Given the description of an element on the screen output the (x, y) to click on. 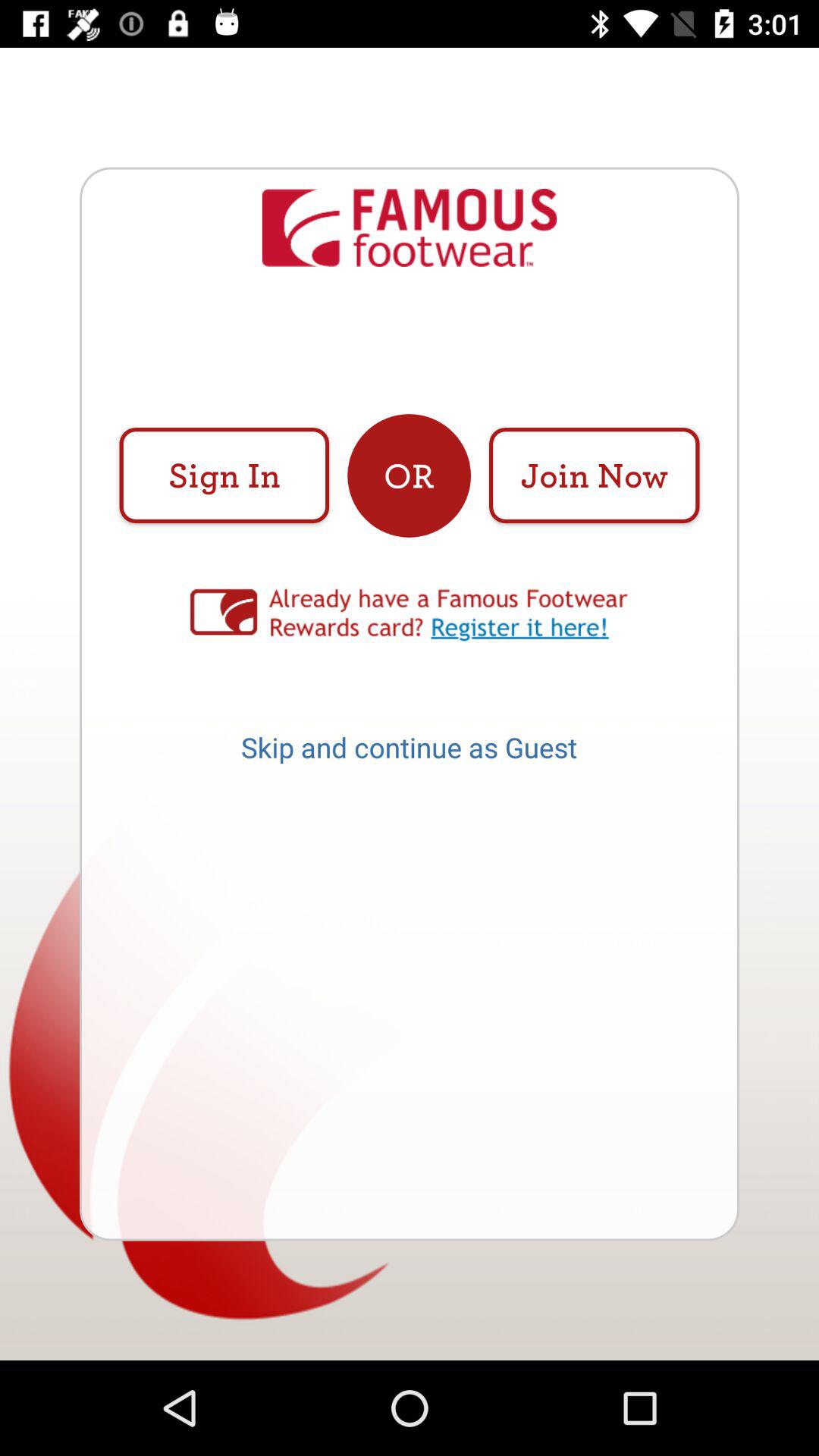
tap the item next to the or icon (224, 475)
